Given the description of an element on the screen output the (x, y) to click on. 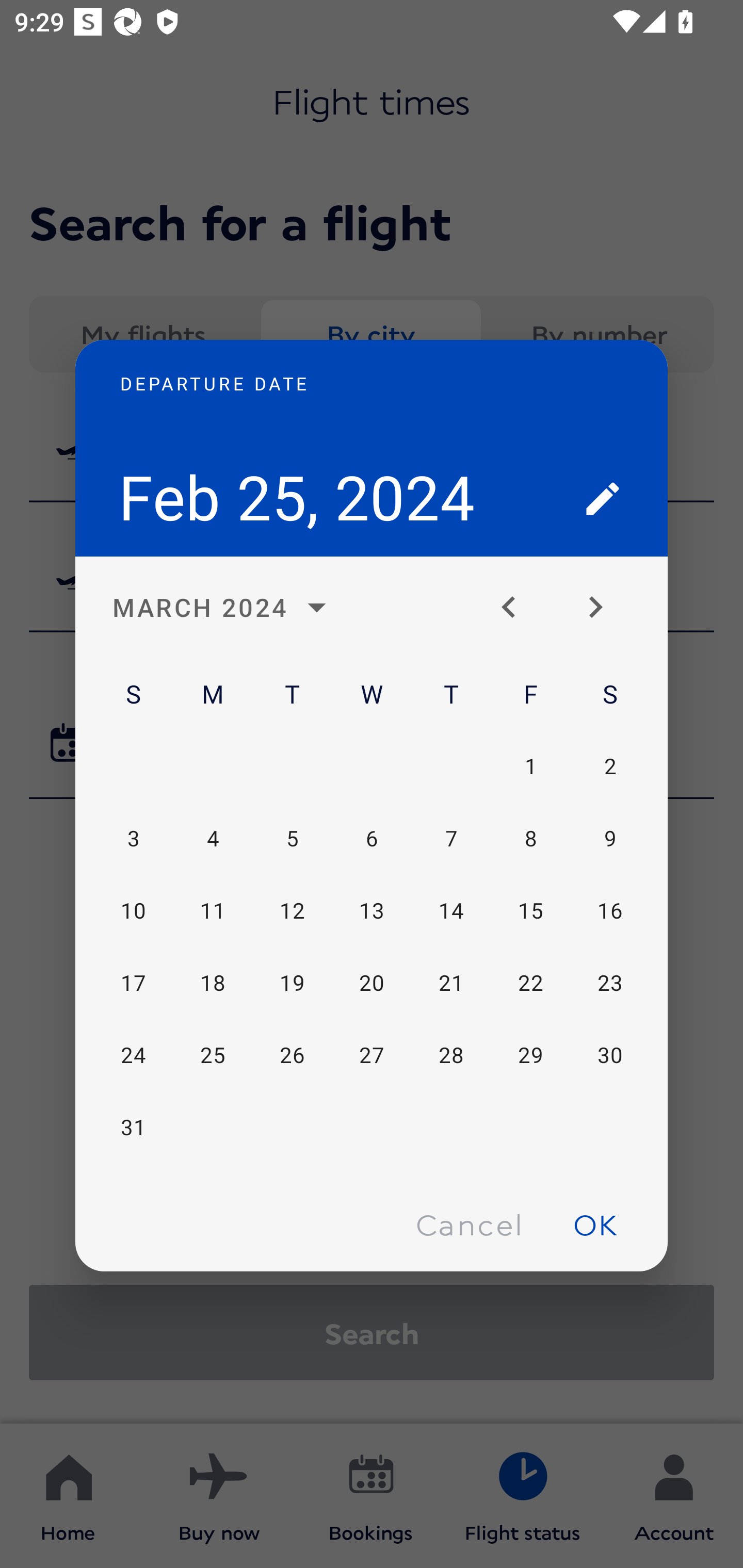
Switch to text input mode (602, 498)
MARCH 2024 (224, 607)
Change to previous month (515, 607)
Change to next month (602, 607)
1 Fri, Mar 1 (530, 765)
2 Sat, Mar 2 (609, 765)
3 Sun, Mar 3 (133, 838)
4 Mon, Mar 4 (212, 838)
5 Tue, Mar 5 (291, 838)
6 Wed, Mar 6 (371, 838)
7 Thu, Mar 7 (450, 838)
8 Fri, Mar 8 (530, 838)
9 Sat, Mar 9 (609, 838)
10 Sun, Mar 10 (133, 910)
11 Mon, Mar 11 (212, 910)
12 Tue, Mar 12 (291, 910)
13 Wed, Mar 13 (371, 910)
14 Thu, Mar 14 (450, 910)
15 Fri, Mar 15 (530, 910)
16 Sat, Mar 16 (609, 910)
17 Sun, Mar 17 (133, 983)
18 Mon, Mar 18 (212, 983)
19 Tue, Mar 19 (291, 983)
20 Wed, Mar 20 (371, 983)
21 Thu, Mar 21 (450, 983)
22 Fri, Mar 22 (530, 983)
23 Sat, Mar 23 (609, 983)
24 Sun, Mar 24 (133, 1055)
25 Mon, Mar 25 (212, 1055)
26 Tue, Mar 26 (291, 1055)
27 Wed, Mar 27 (371, 1055)
28 Thu, Mar 28 (450, 1055)
29 Fri, Mar 29 (530, 1055)
30 Sat, Mar 30 (609, 1055)
31 Sun, Mar 31 (133, 1127)
Cancel (468, 1224)
OK null, OK (595, 1224)
